Given the description of an element on the screen output the (x, y) to click on. 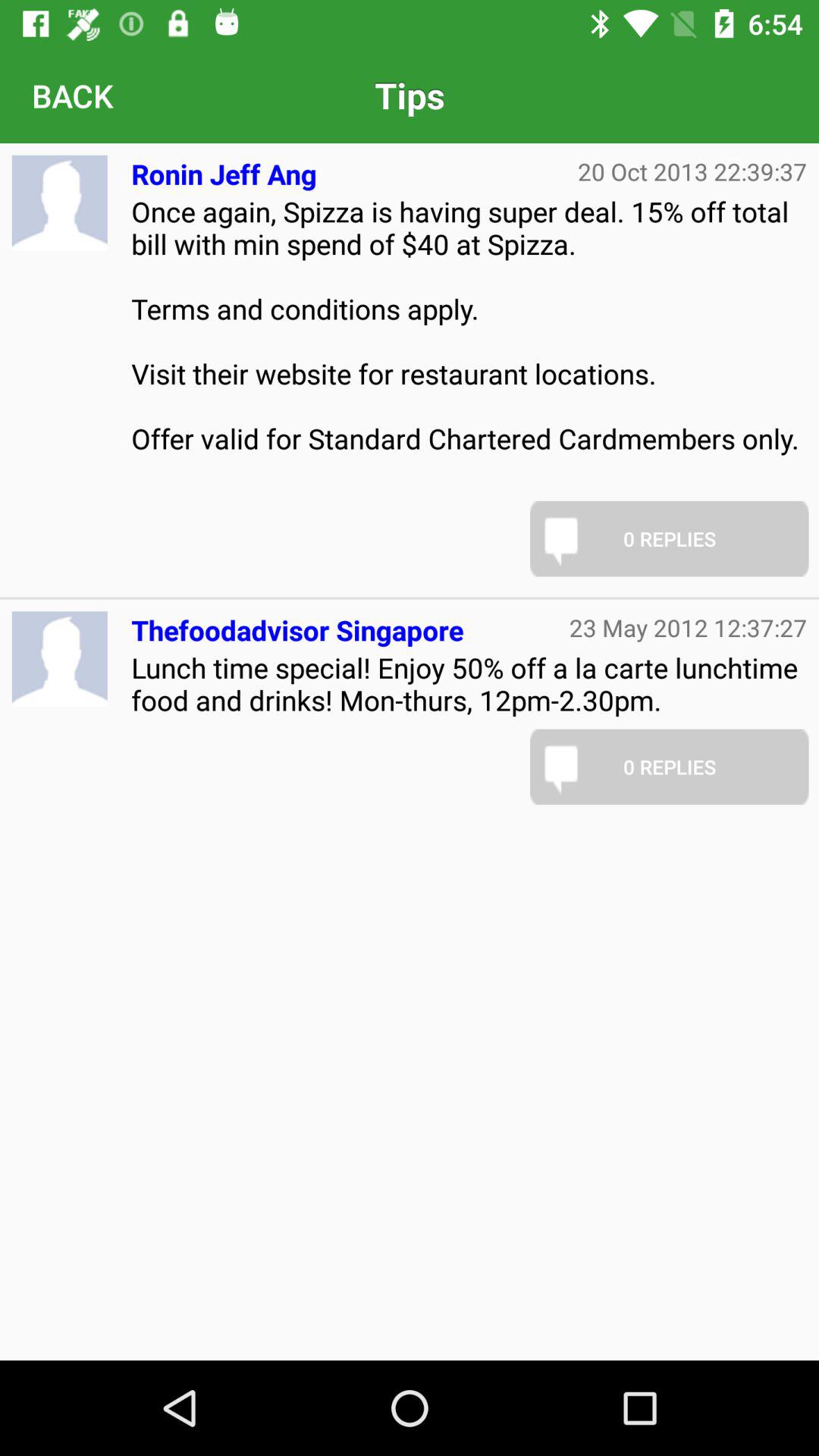
launch ronin jeff ang (223, 167)
